Given the description of an element on the screen output the (x, y) to click on. 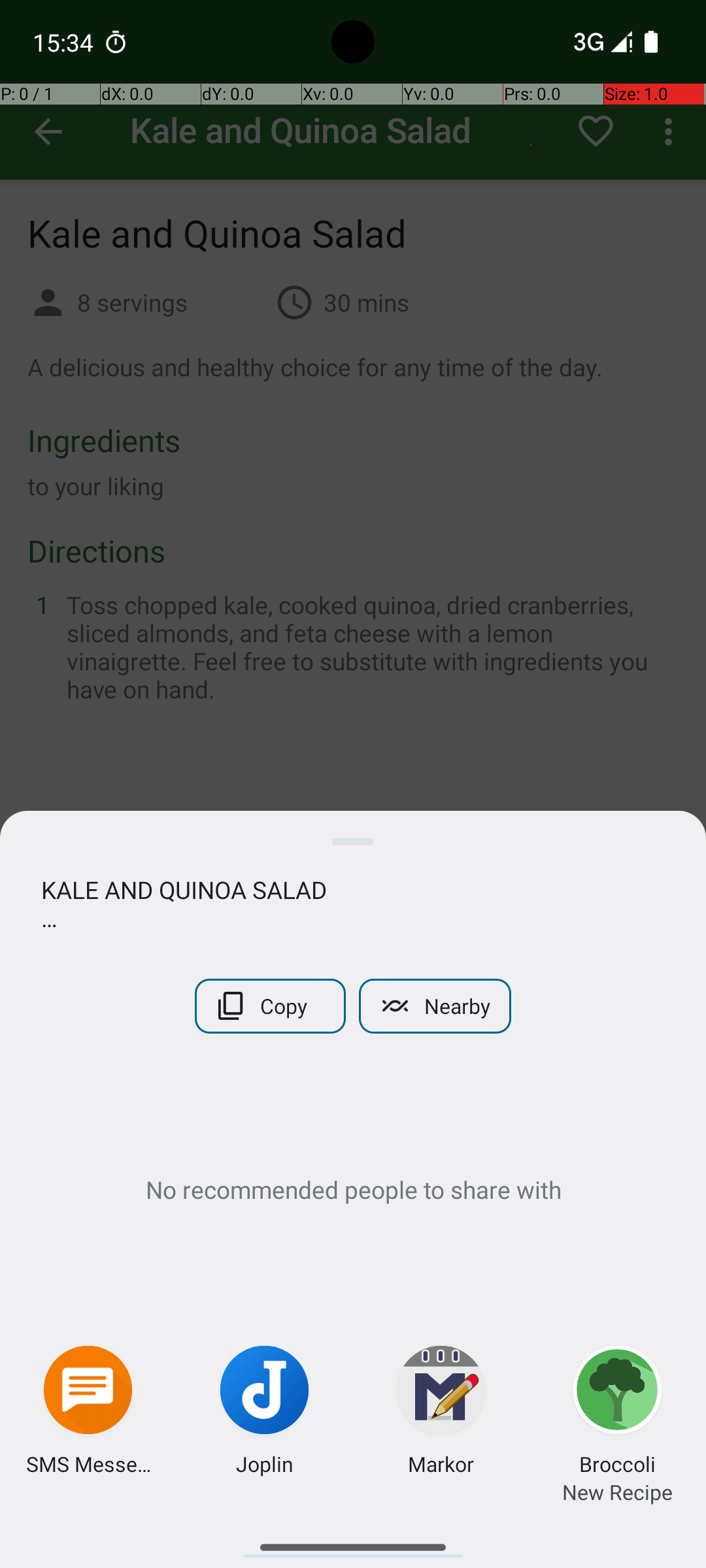
KALE AND QUINOA SALAD

Servings: 8 servings
Time: 30 mins

A delicious and healthy choice for any time of the day.

Ingredients:
- to your liking

Directions:
1. Toss chopped kale, cooked quinoa, dried cranberries, sliced almonds, and feta cheese with a lemon vinaigrette. Feel free to substitute with ingredients you have on hand.

Shared with https://play.google.com/store/apps/details?id=com.flauschcode.broccoli Element type: android.widget.TextView (352, 903)
